Given the description of an element on the screen output the (x, y) to click on. 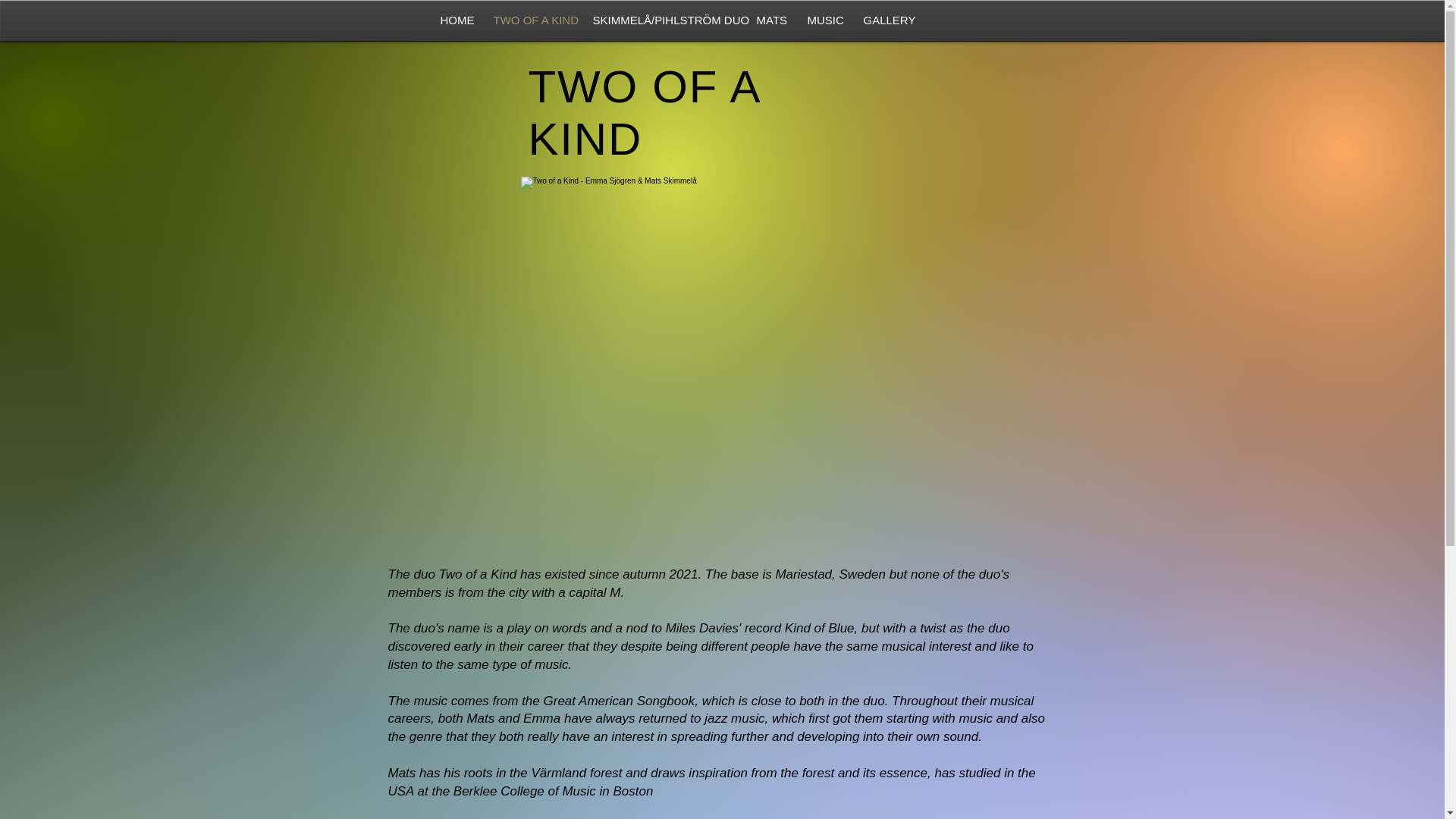
MUSIC (822, 20)
HOME (454, 20)
MATS (769, 20)
GALLERY (885, 20)
TWO OF A KIND (529, 20)
